Given the description of an element on the screen output the (x, y) to click on. 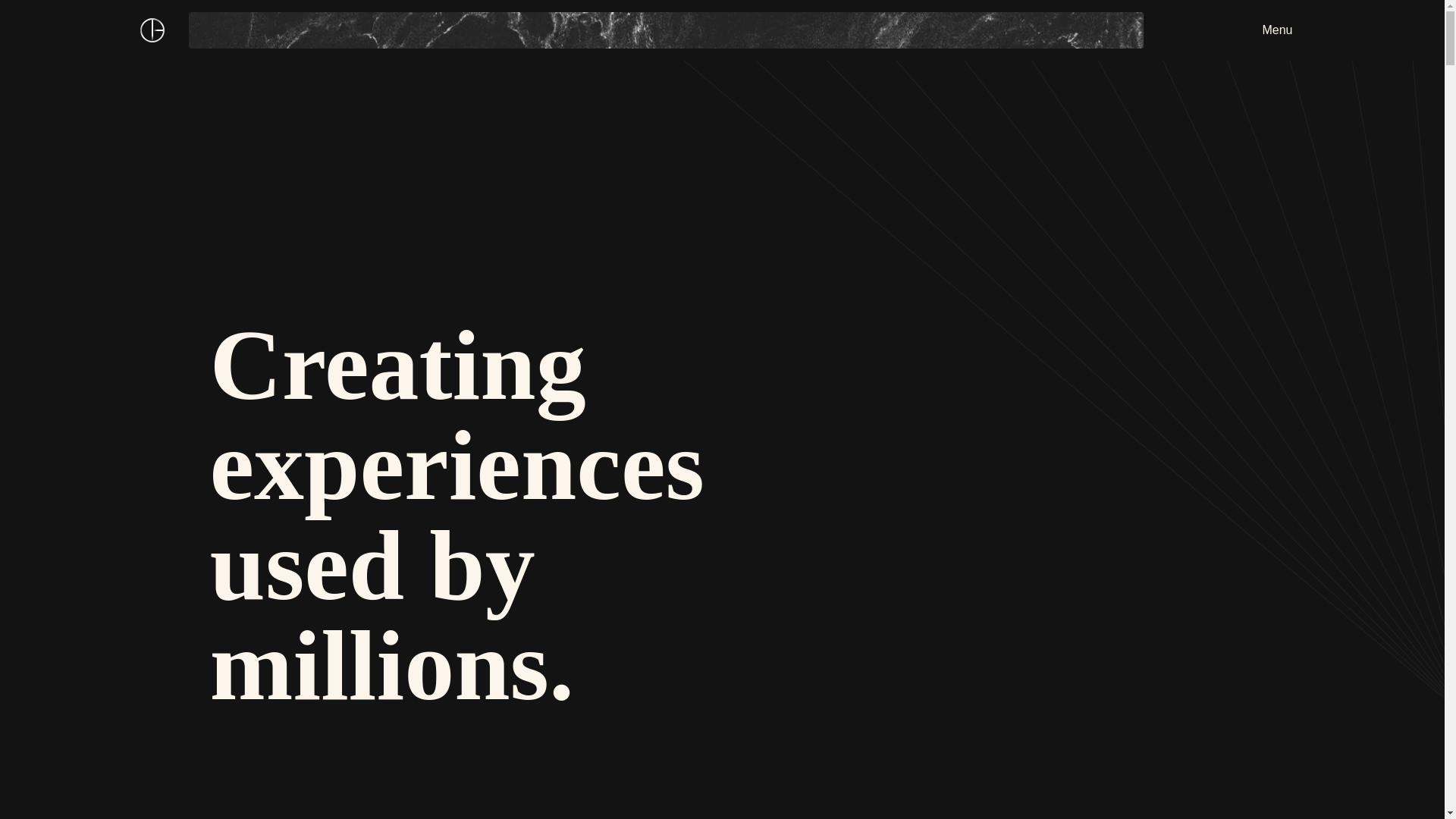
Devon Beard (151, 30)
Menu (1276, 30)
